Given the description of an element on the screen output the (x, y) to click on. 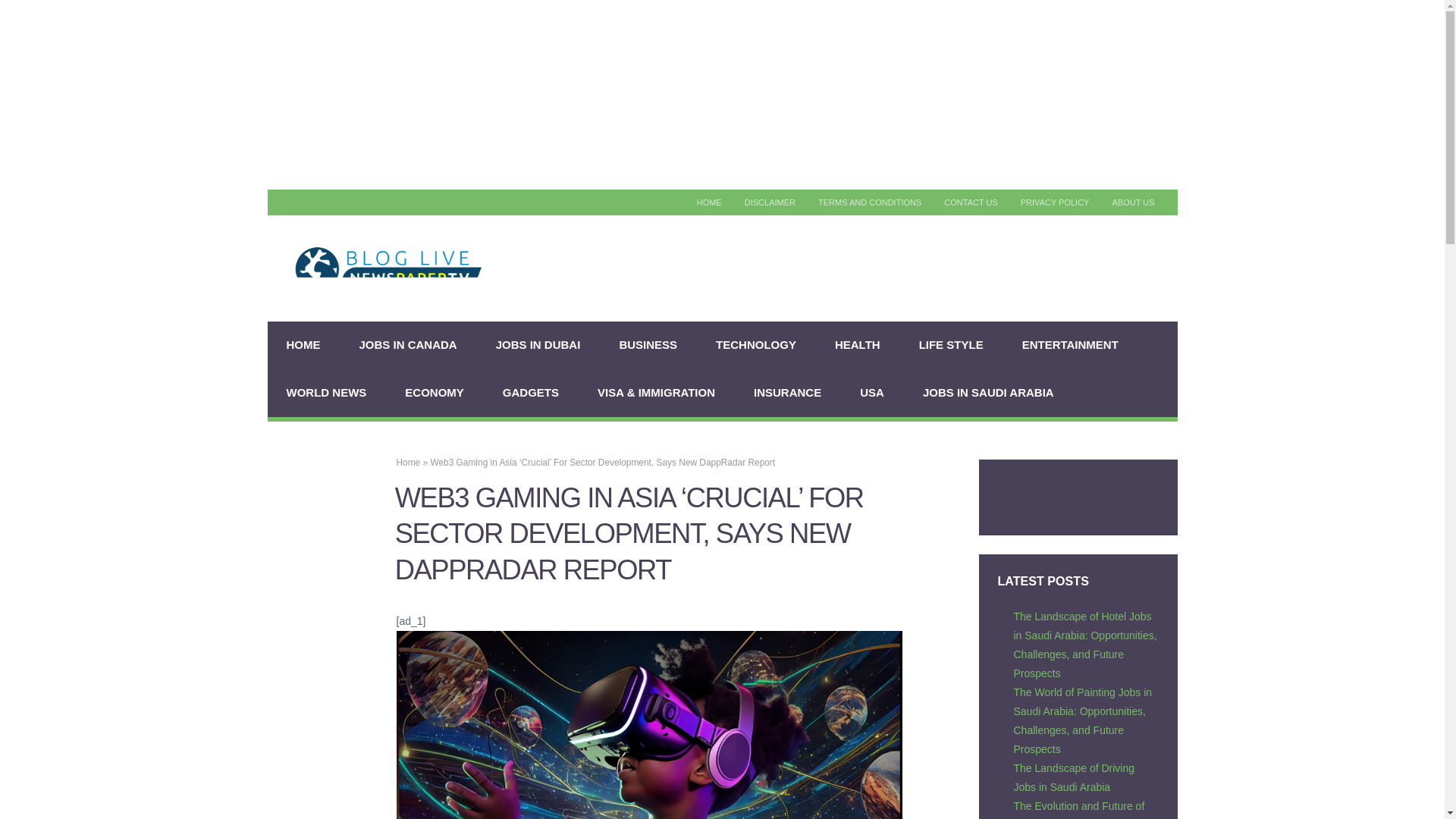
WORLD NEWS (325, 392)
HOME (709, 202)
Home (408, 462)
JOBS IN SAUDI ARABIA (989, 392)
The Landscape of Driving Jobs in Saudi Arabia (1073, 777)
INSURANCE (788, 392)
JOBS IN DUBAI (538, 345)
HOME (302, 345)
LIFE STYLE (951, 345)
TERMS AND CONDITIONS (869, 202)
DISCLAIMER (769, 202)
HEALTH (857, 345)
JOBS IN CANADA (407, 345)
BUSINESS (648, 345)
